Given the description of an element on the screen output the (x, y) to click on. 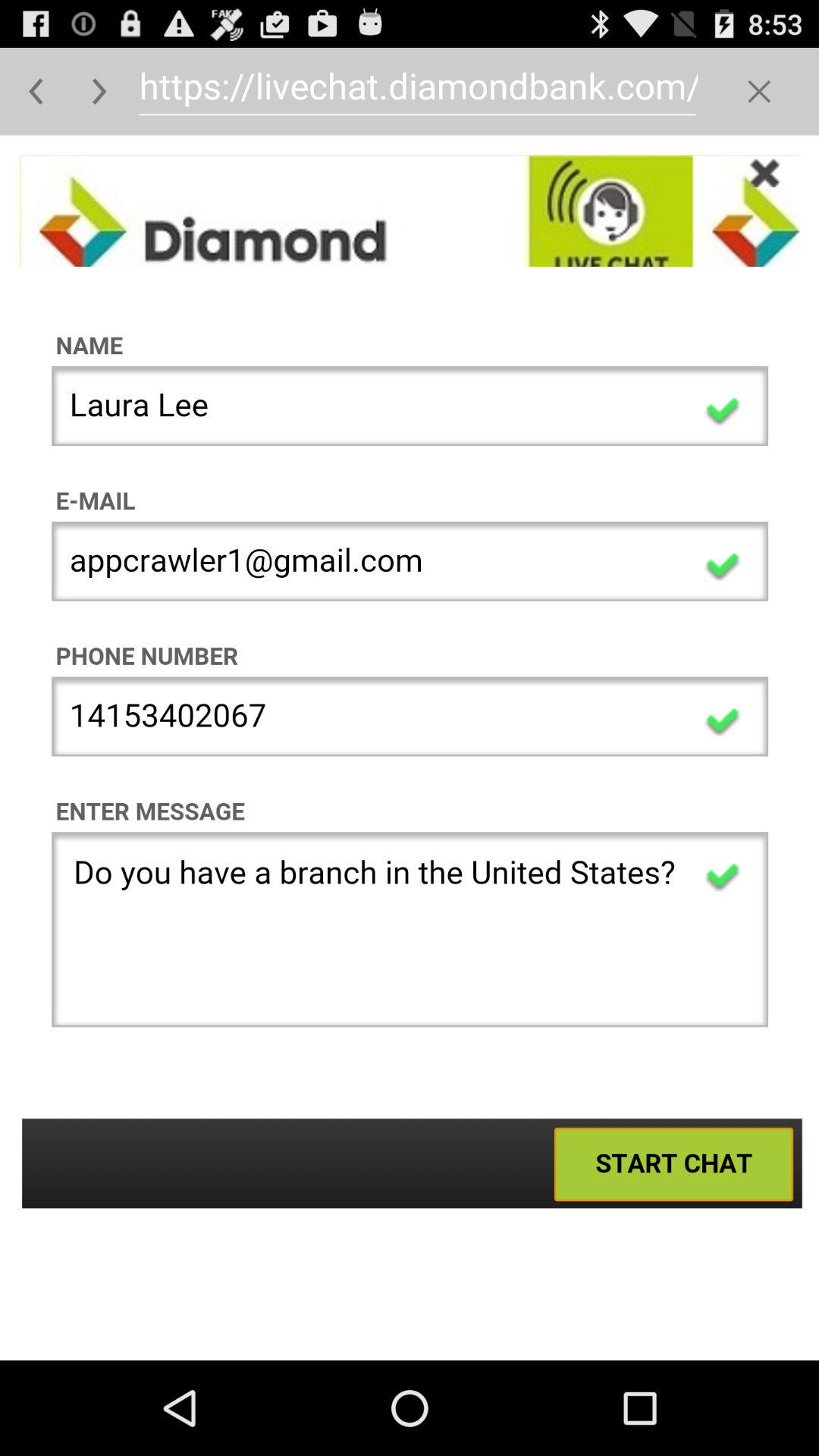
entering information (409, 747)
